Given the description of an element on the screen output the (x, y) to click on. 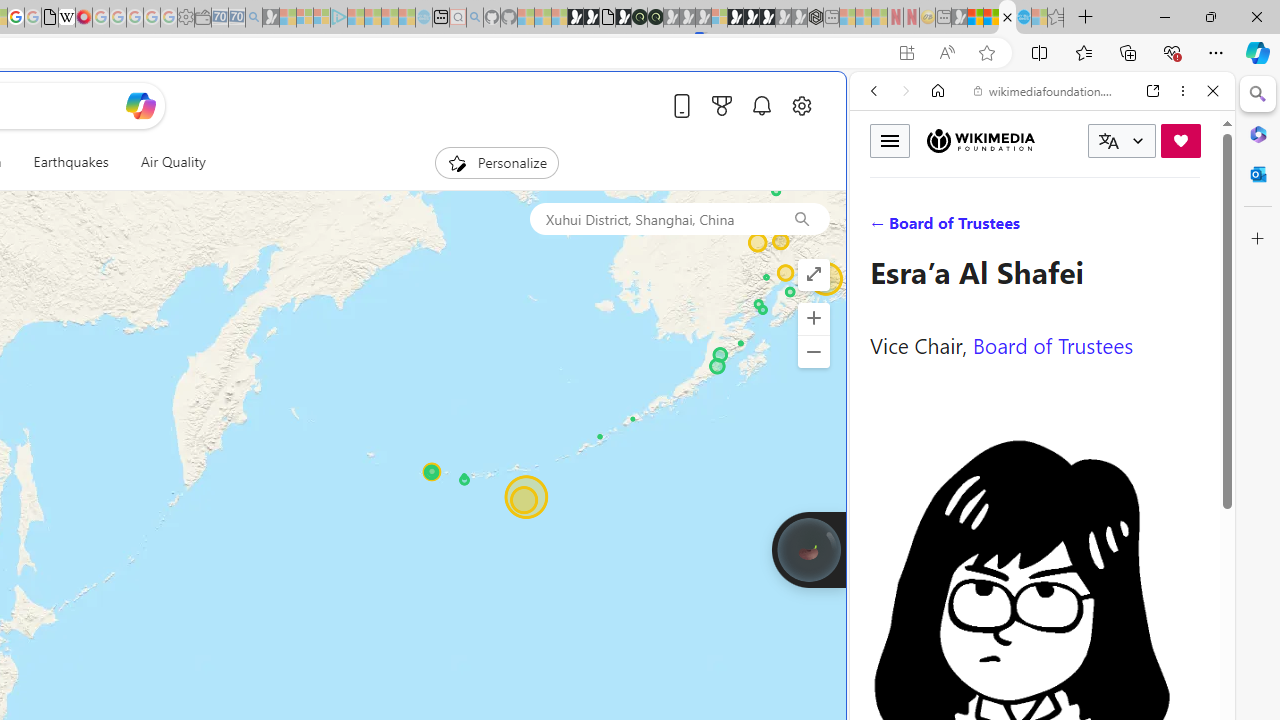
WEB   (882, 228)
Donate now (1180, 140)
Sign in to your account - Sleeping (719, 17)
Join us in planting real trees to help our planet! (808, 548)
Forward (906, 91)
Enter full screen mode (813, 274)
Microsoft Start - Sleeping (389, 17)
Home | Sky Blue Bikes - Sky Blue Bikes (687, 426)
Close Customize pane (1258, 239)
